Given the description of an element on the screen output the (x, y) to click on. 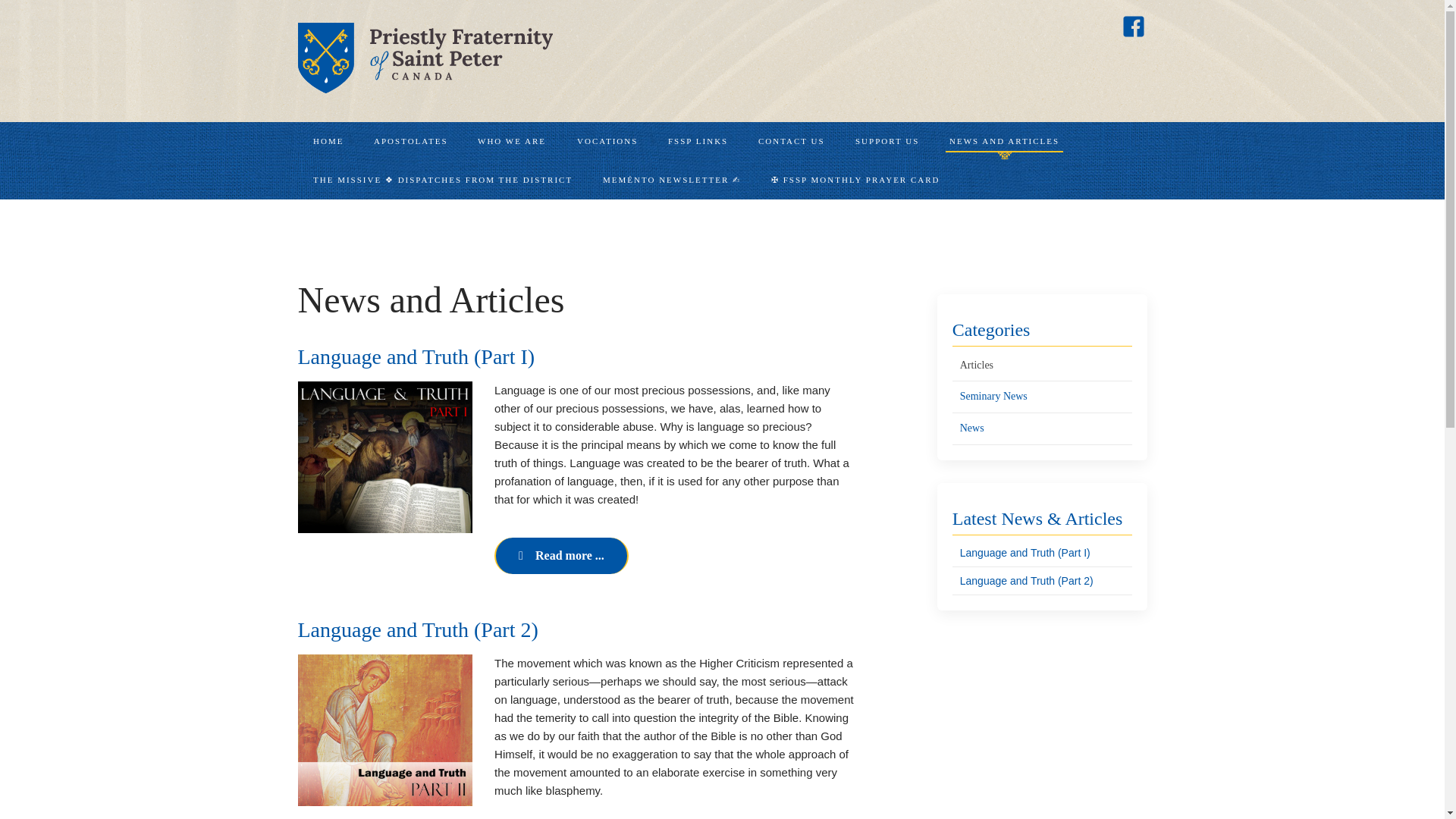
APOSTOLATES (410, 141)
FSSP LINKS (697, 141)
Read more ... (561, 555)
WHO WE ARE (511, 141)
SUPPORT US (887, 141)
NEWS AND ARTICLES (1004, 141)
HOME (327, 141)
CONTACT US (791, 141)
VOCATIONS (607, 141)
